Given the description of an element on the screen output the (x, y) to click on. 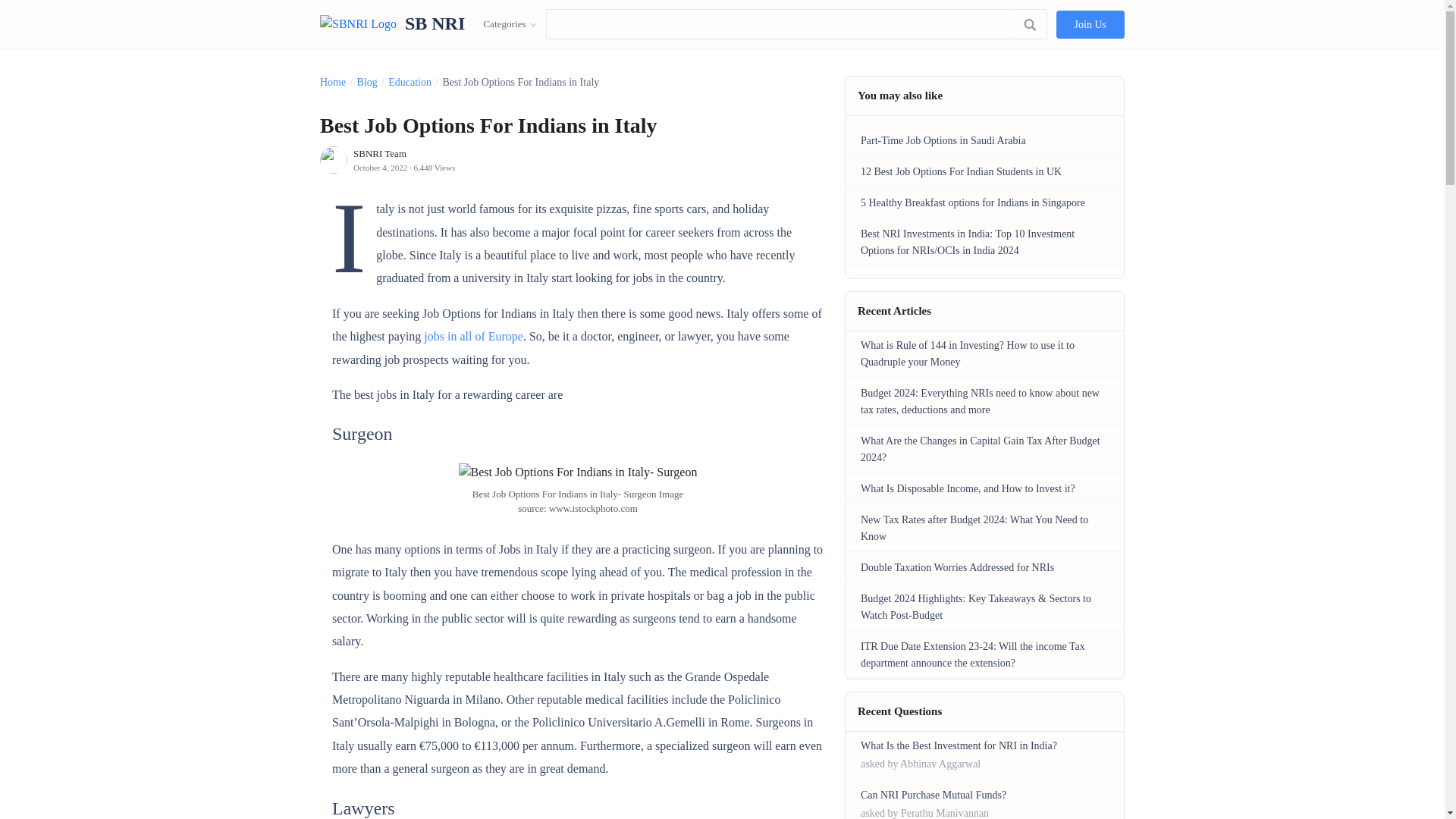
Skip to content (55, 20)
SBNRI (392, 24)
 SB NRI (392, 24)
